Given the description of an element on the screen output the (x, y) to click on. 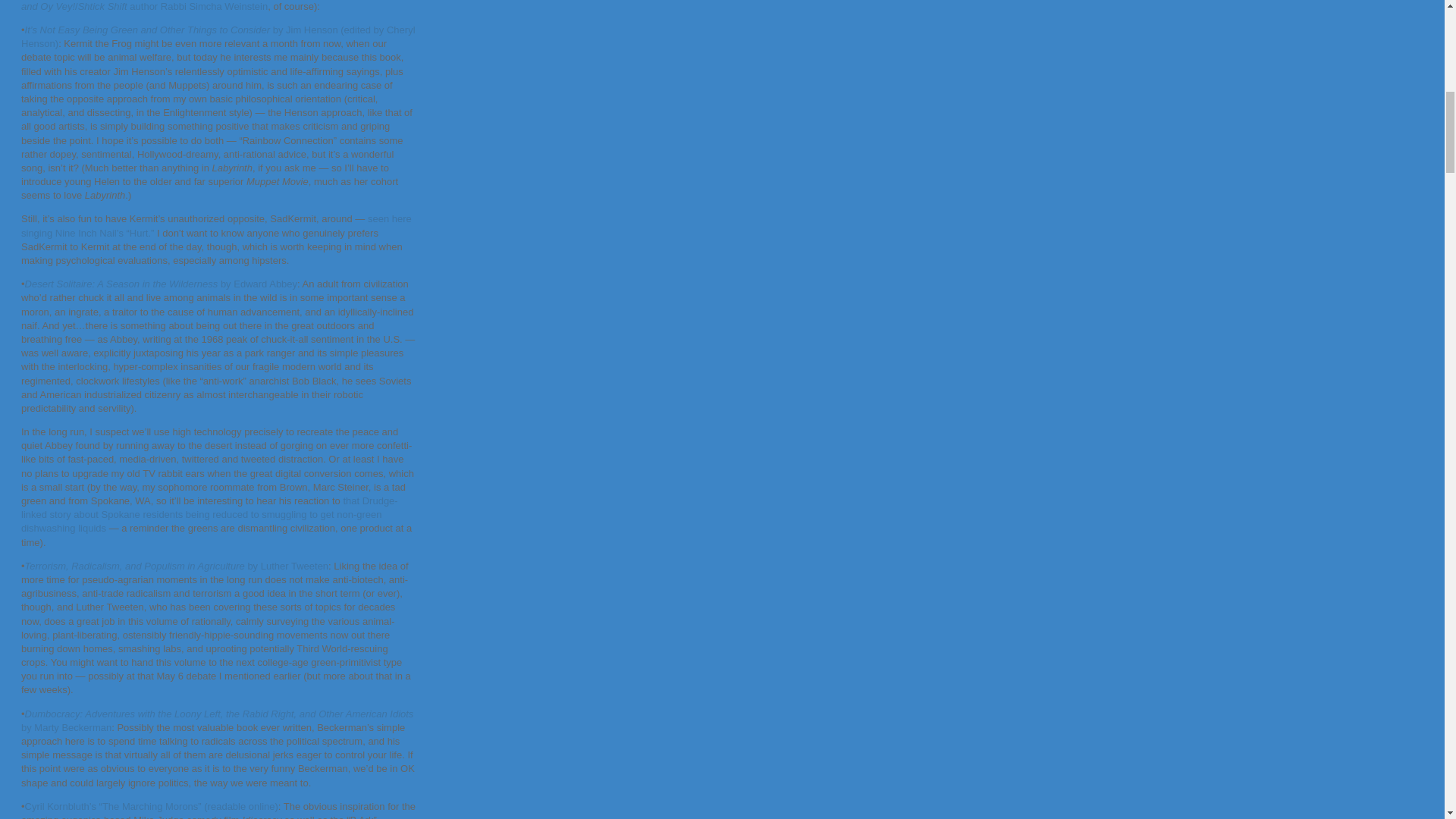
Desert Solitaire: A Season in the Wilderness by Edward Abbey (161, 283)
